Given the description of an element on the screen output the (x, y) to click on. 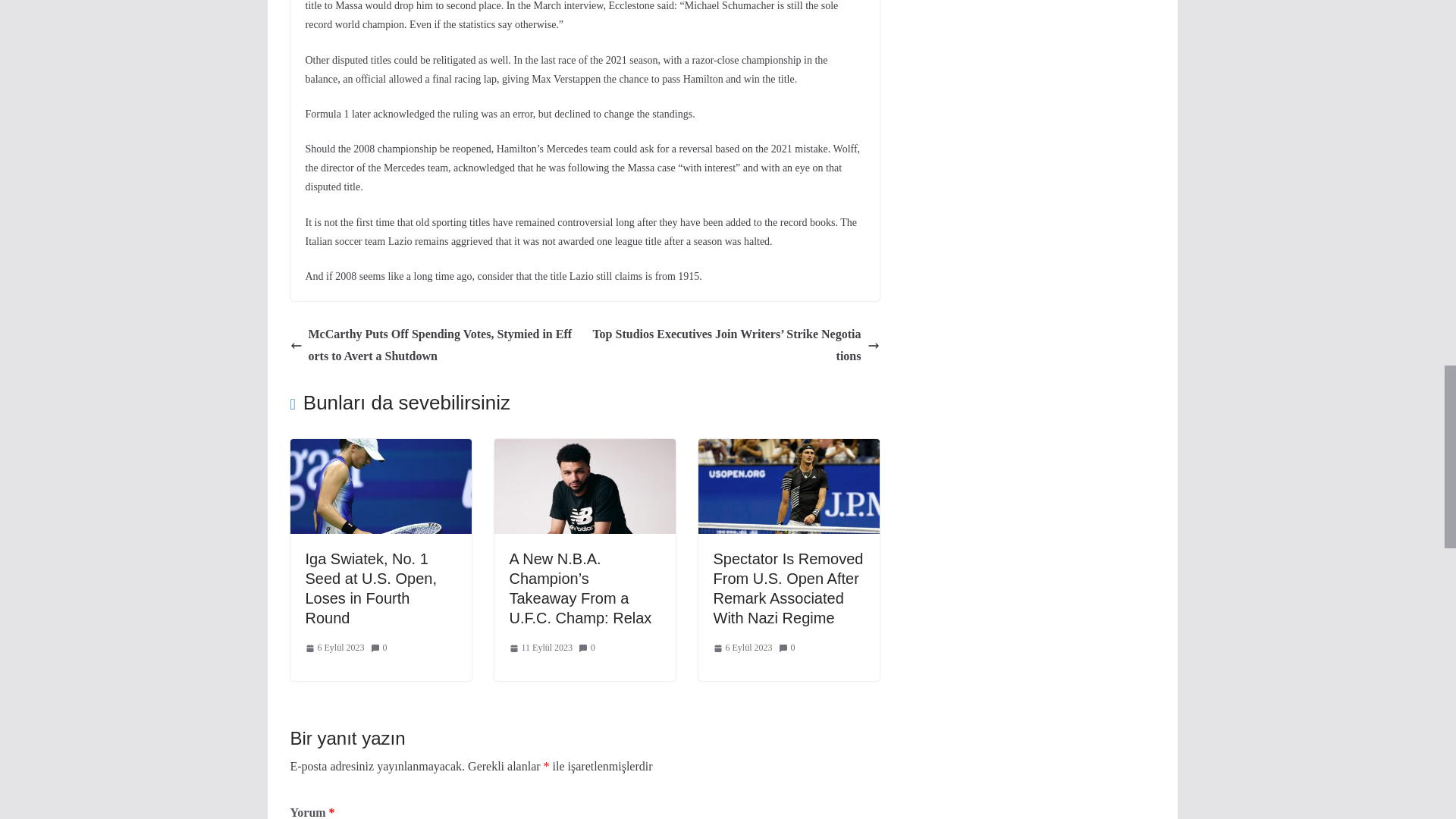
Iga Swiatek, No. 1 Seed at U.S. Open, Loses in Fourth Round (369, 588)
Iga Swiatek, No. 1 Seed at U.S. Open, Loses in Fourth Round (379, 449)
